Given the description of an element on the screen output the (x, y) to click on. 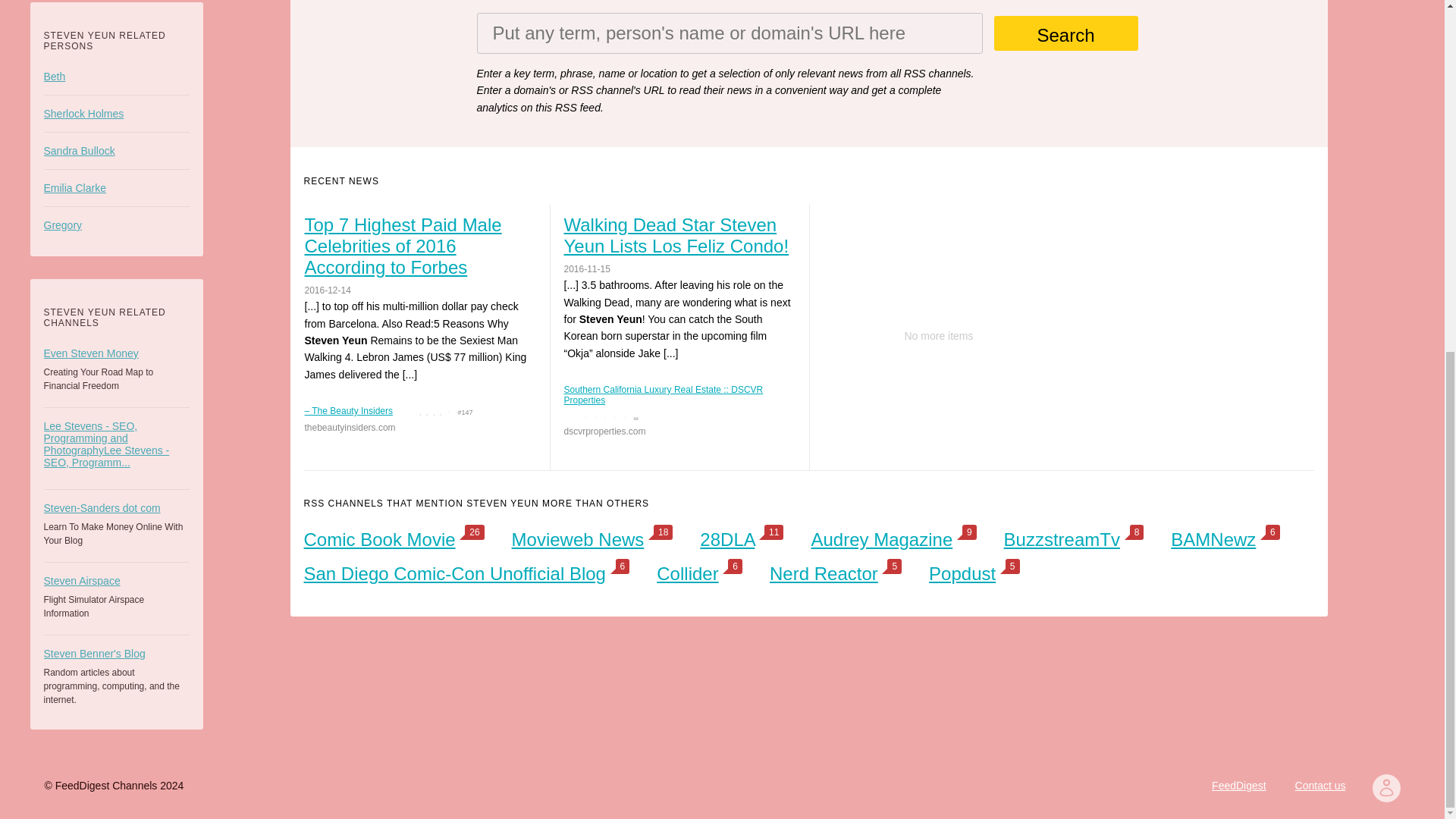
Southern California Luxury Real Estate :: DSCVR Properties (675, 394)
BuzzstreamTv (1061, 539)
BAMNewz (1212, 539)
Collider (686, 573)
Audrey Magazine (881, 539)
Nerd Reactor (823, 573)
Walking Dead Star Steven Yeun Lists Los Feliz Condo! (678, 235)
Comic Book Movie (378, 539)
San Diego Comic-Con Unofficial Blog (453, 573)
